Given the description of an element on the screen output the (x, y) to click on. 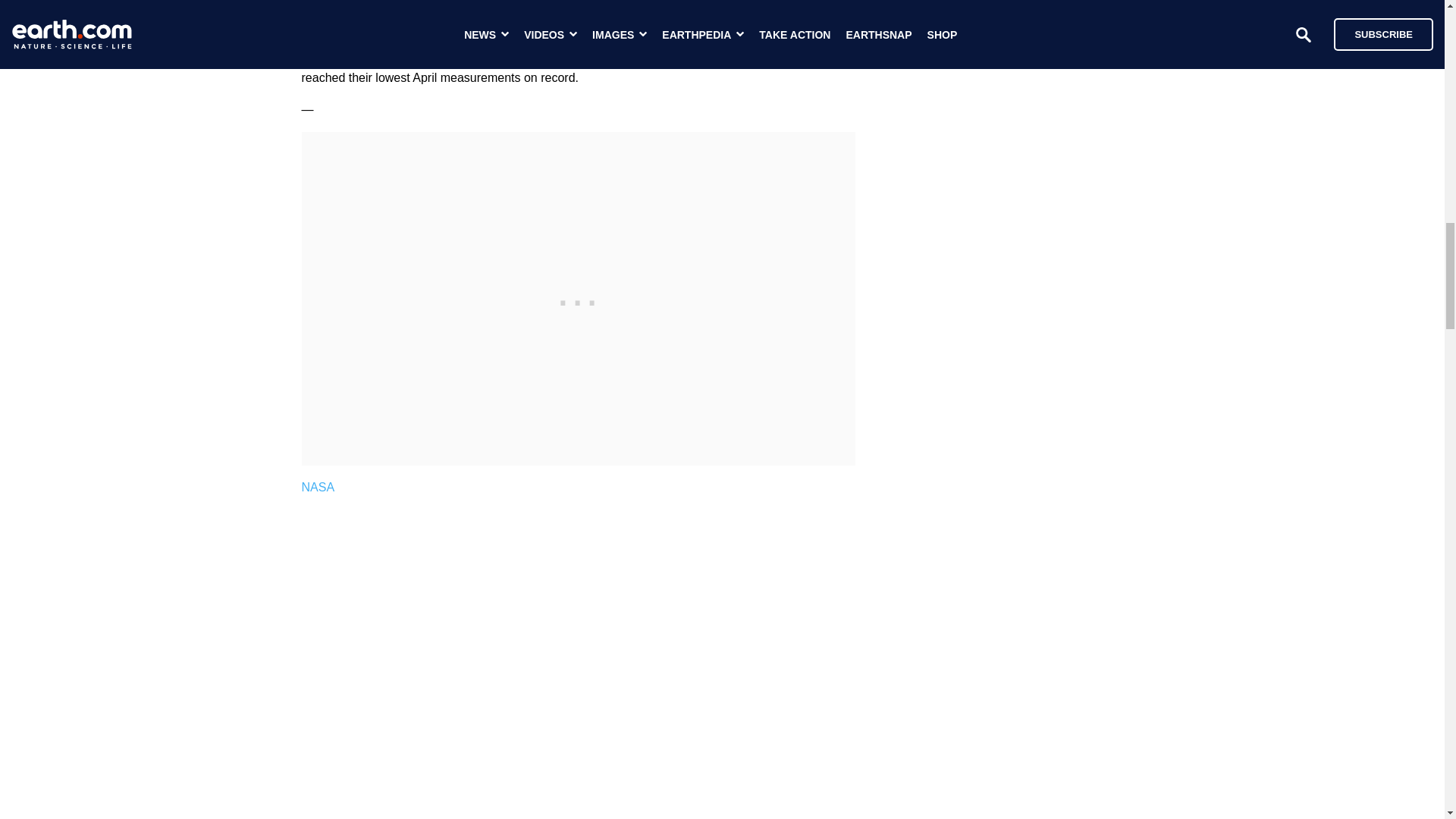
NASA (317, 486)
